Given the description of an element on the screen output the (x, y) to click on. 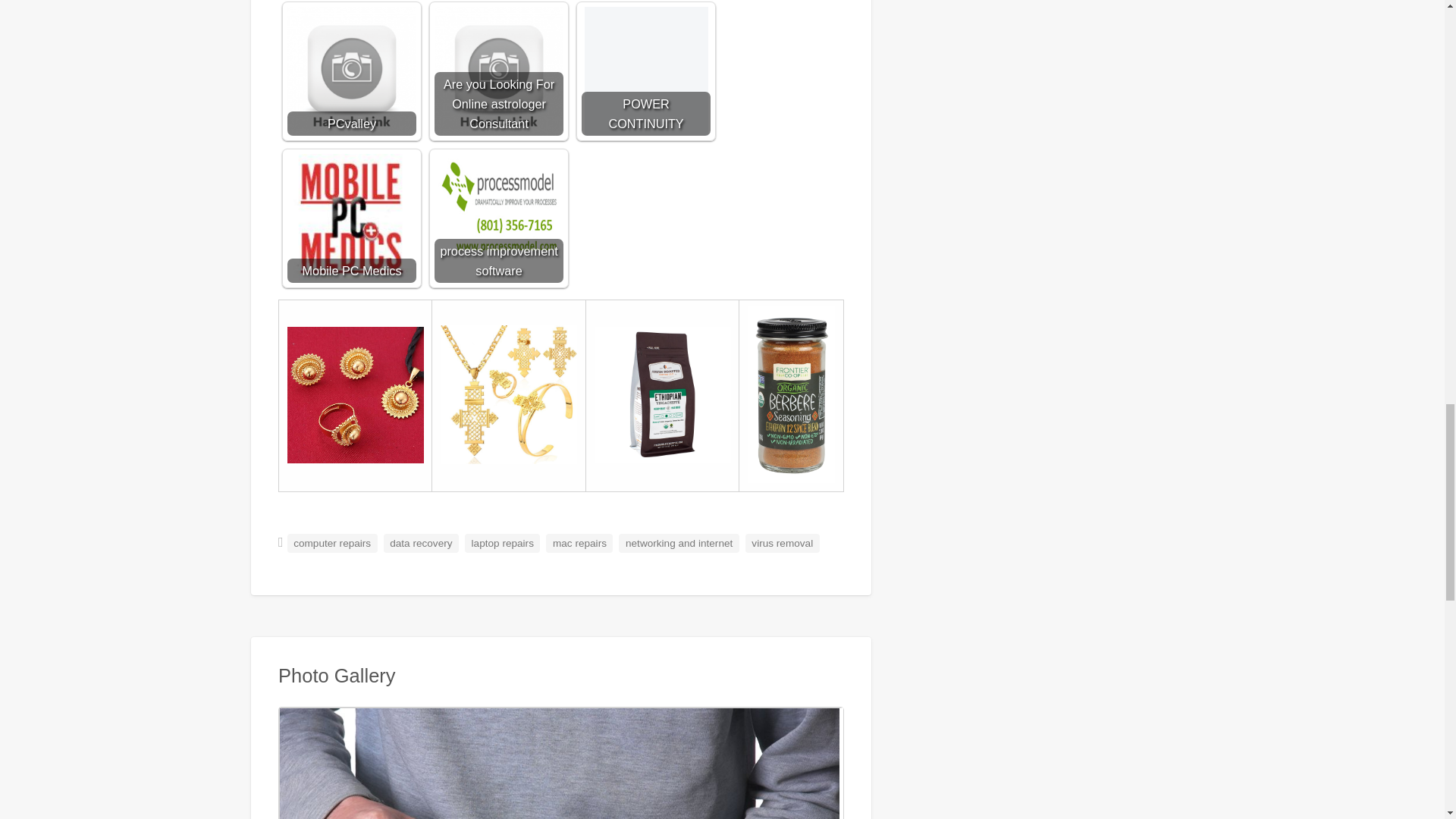
Mobile PC Medics (351, 217)
PCvalley (351, 70)
process improvement software (498, 208)
Are you Looking For Online astrologer Consultant (498, 70)
POWER CONTINUITY (646, 70)
